Given the description of an element on the screen output the (x, y) to click on. 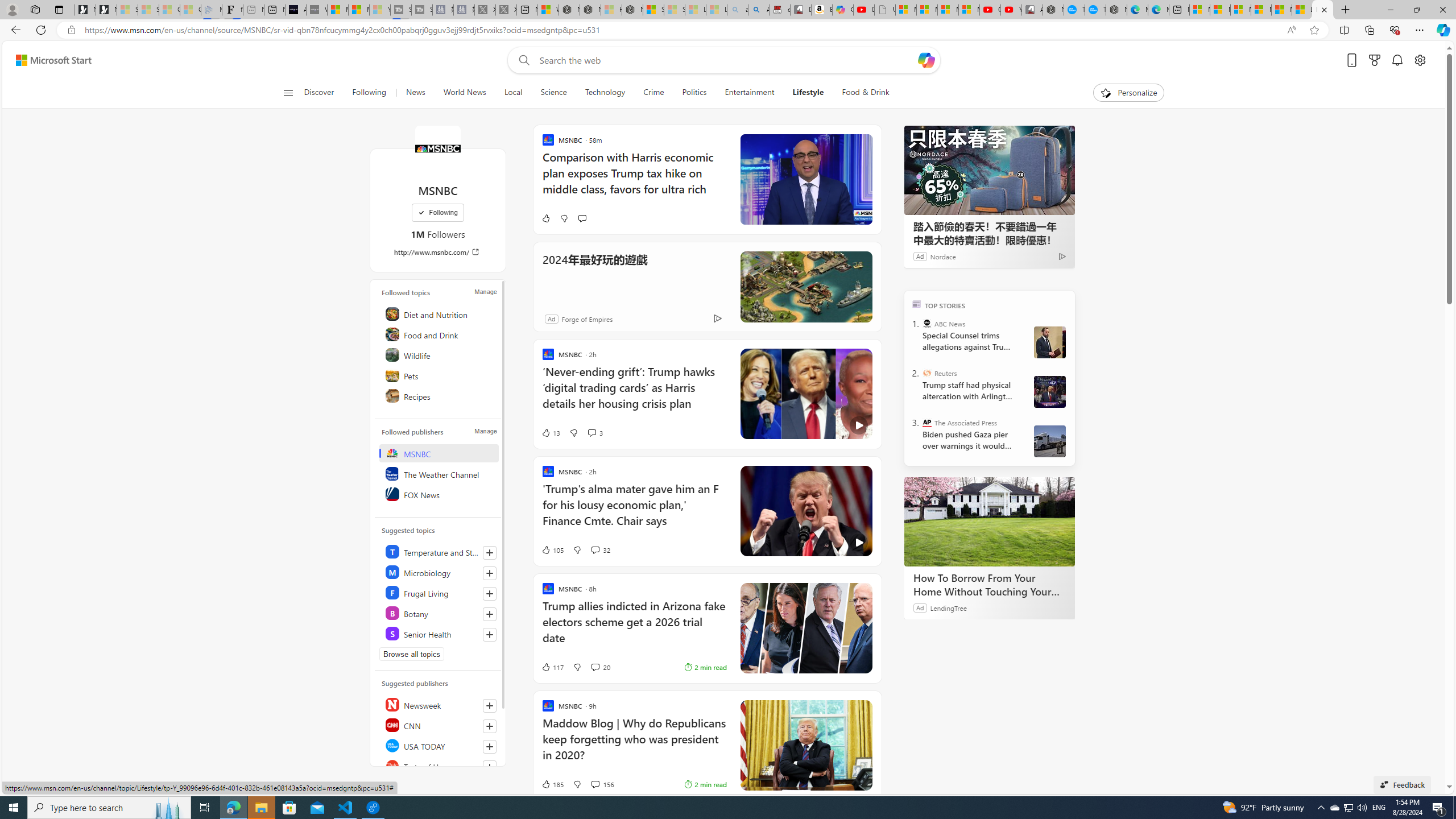
TOP (916, 302)
Crime (653, 92)
Untitled (884, 9)
Science (553, 92)
